Given the description of an element on the screen output the (x, y) to click on. 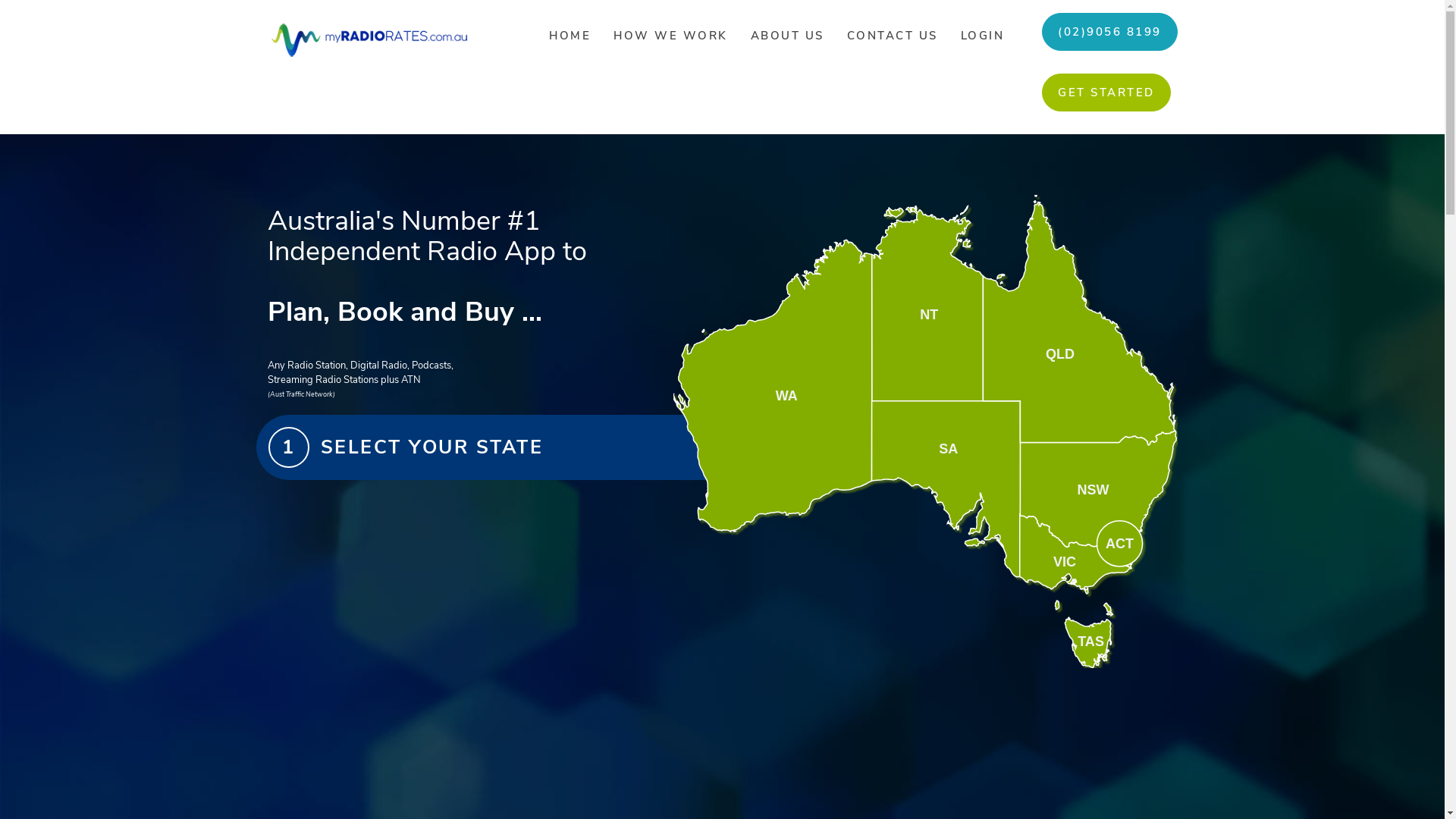
CONTACT US Element type: text (892, 35)
HOME Element type: text (569, 35)
LOGIN Element type: text (982, 35)
HOW WE WORK Element type: text (670, 35)
ABOUT US Element type: text (786, 35)
(02)9056 8199 Element type: text (1109, 31)
GET STARTED Element type: text (1105, 92)
